Given the description of an element on the screen output the (x, y) to click on. 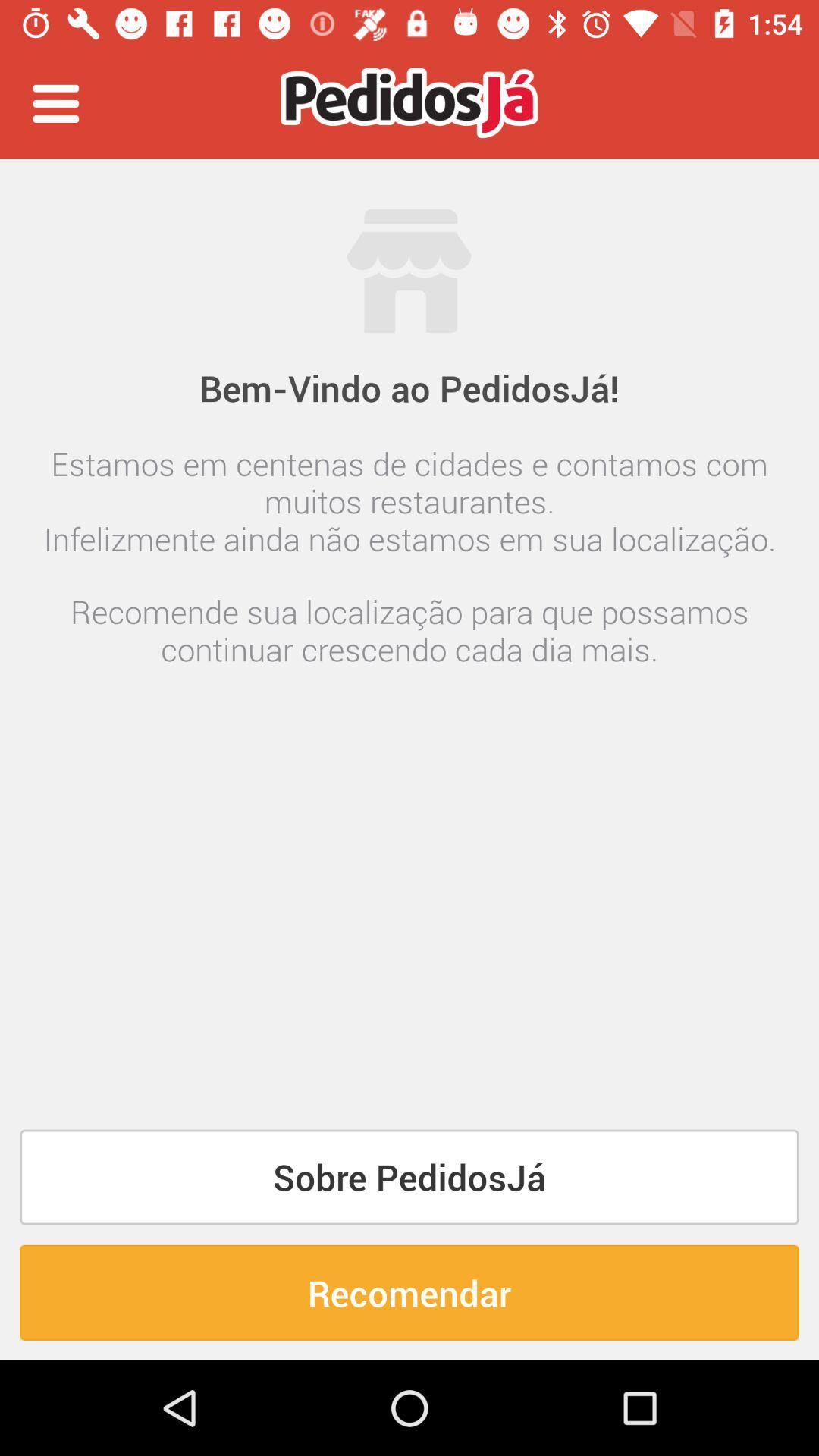
open menu bar (55, 103)
